Given the description of an element on the screen output the (x, y) to click on. 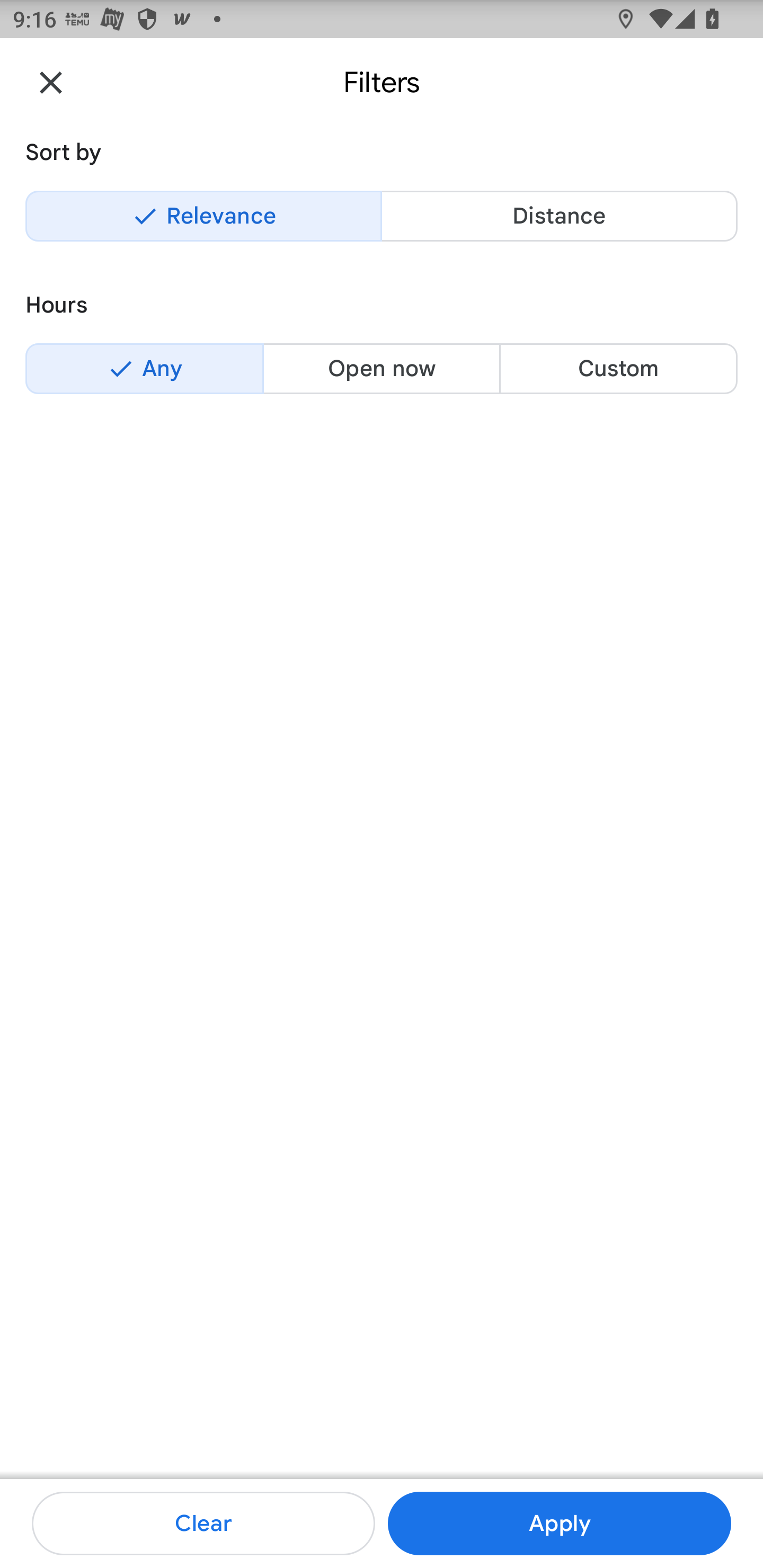
Close menu (50, 81)
Relevance (203, 216)
Distance (558, 216)
Any (144, 368)
Open now (381, 368)
Custom (618, 368)
Clear Clear Clear (203, 1522)
Apply Apply Apply (558, 1522)
